Given the description of an element on the screen output the (x, y) to click on. 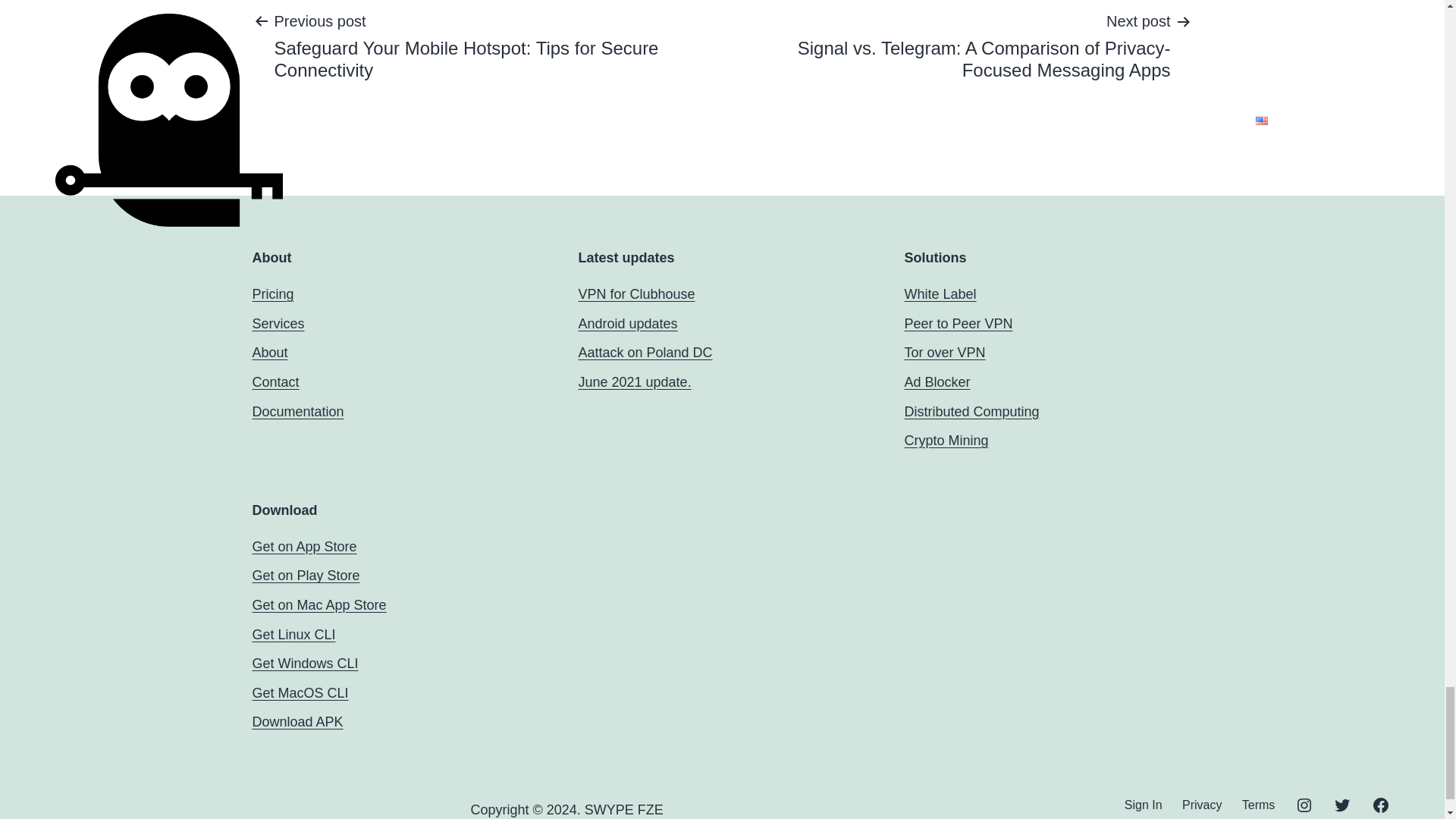
About (268, 352)
Get on Play Store (305, 575)
Get on App Store (303, 546)
Android updates (627, 323)
Contact (274, 381)
Documentation (297, 411)
Services (277, 323)
White Label (939, 294)
Pricing (272, 294)
Peer to Peer VPN (957, 323)
Get on Mac App Store (318, 604)
VPN for Clubhouse (636, 294)
June 2021 update. (634, 381)
Crypto Mining (946, 440)
